Given the description of an element on the screen output the (x, y) to click on. 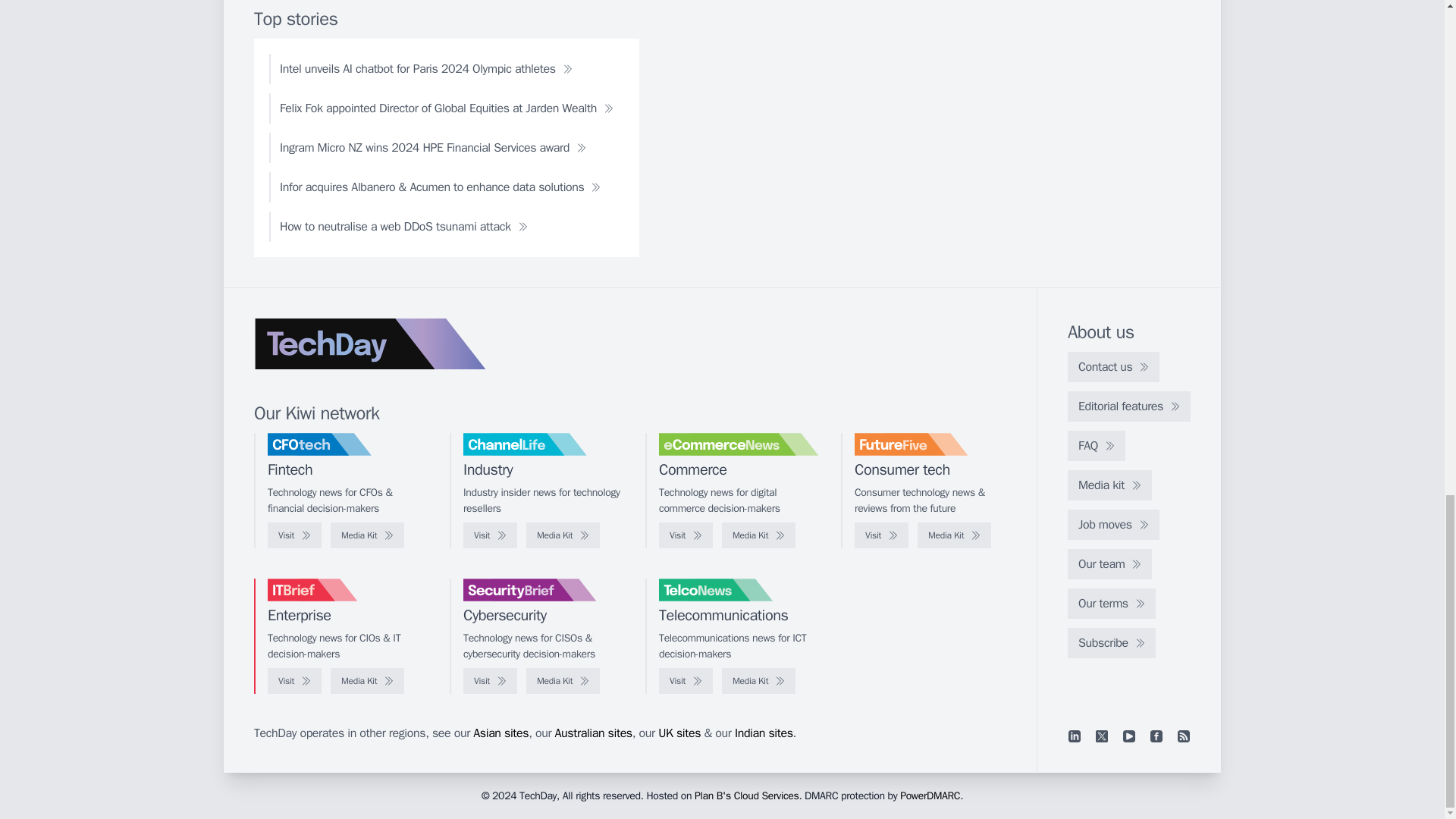
Visit (686, 534)
Ingram Micro NZ wins 2024 HPE Financial Services award (432, 147)
Media Kit (367, 534)
How to neutralise a web DDoS tsunami attack (403, 226)
Visit (881, 534)
Media Kit (758, 534)
Visit (489, 534)
Media Kit (954, 534)
Intel unveils AI chatbot for Paris 2024 Olympic athletes (426, 69)
Media Kit (562, 534)
Visit (294, 534)
